Given the description of an element on the screen output the (x, y) to click on. 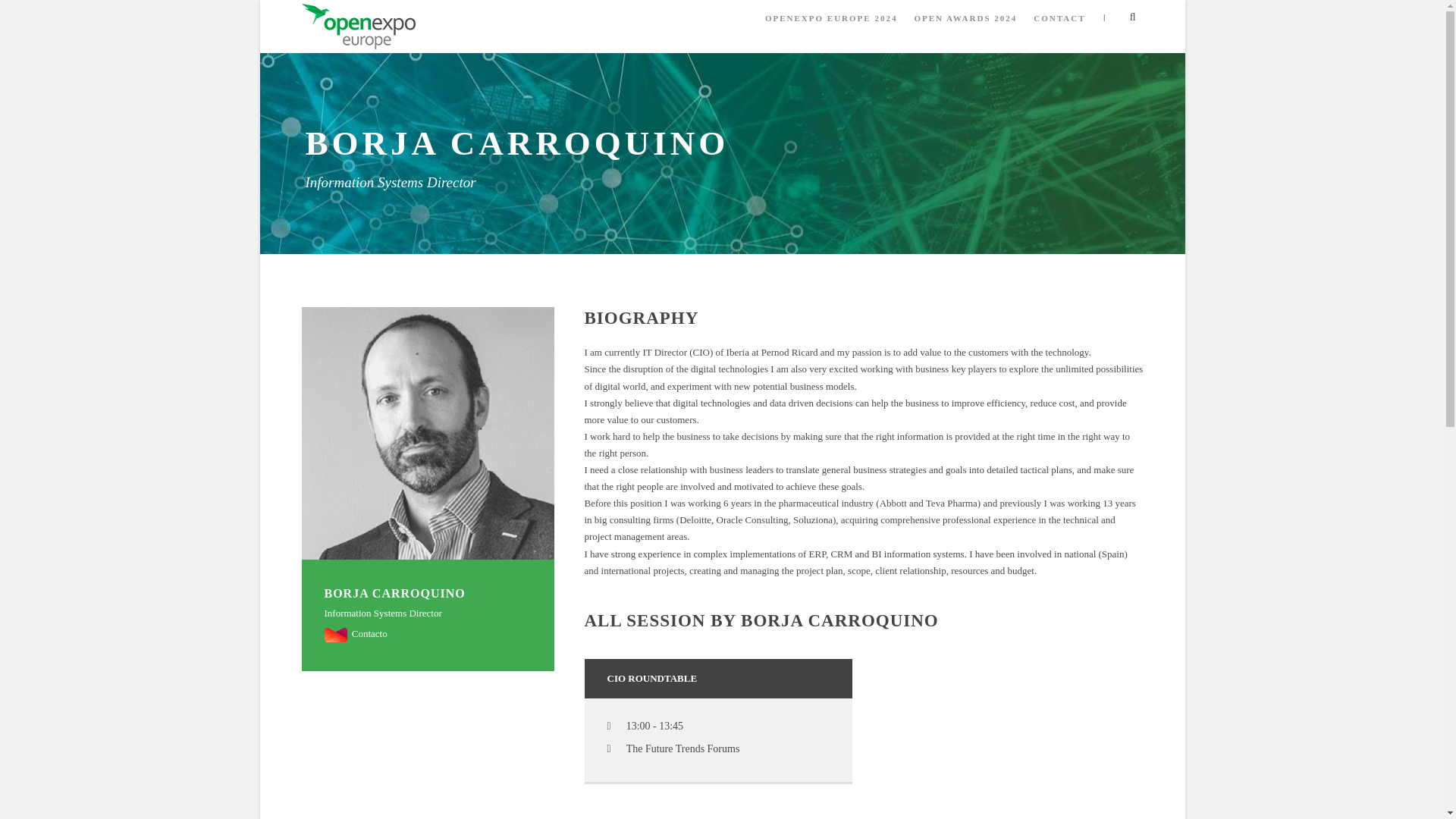
CONTACT (1058, 25)
OPENEXPO EUROPE 2024 (830, 25)
Contacto (355, 633)
OPEN AWARDS 2024 (965, 25)
CIO ROUNDTABLE (652, 677)
